Given the description of an element on the screen output the (x, y) to click on. 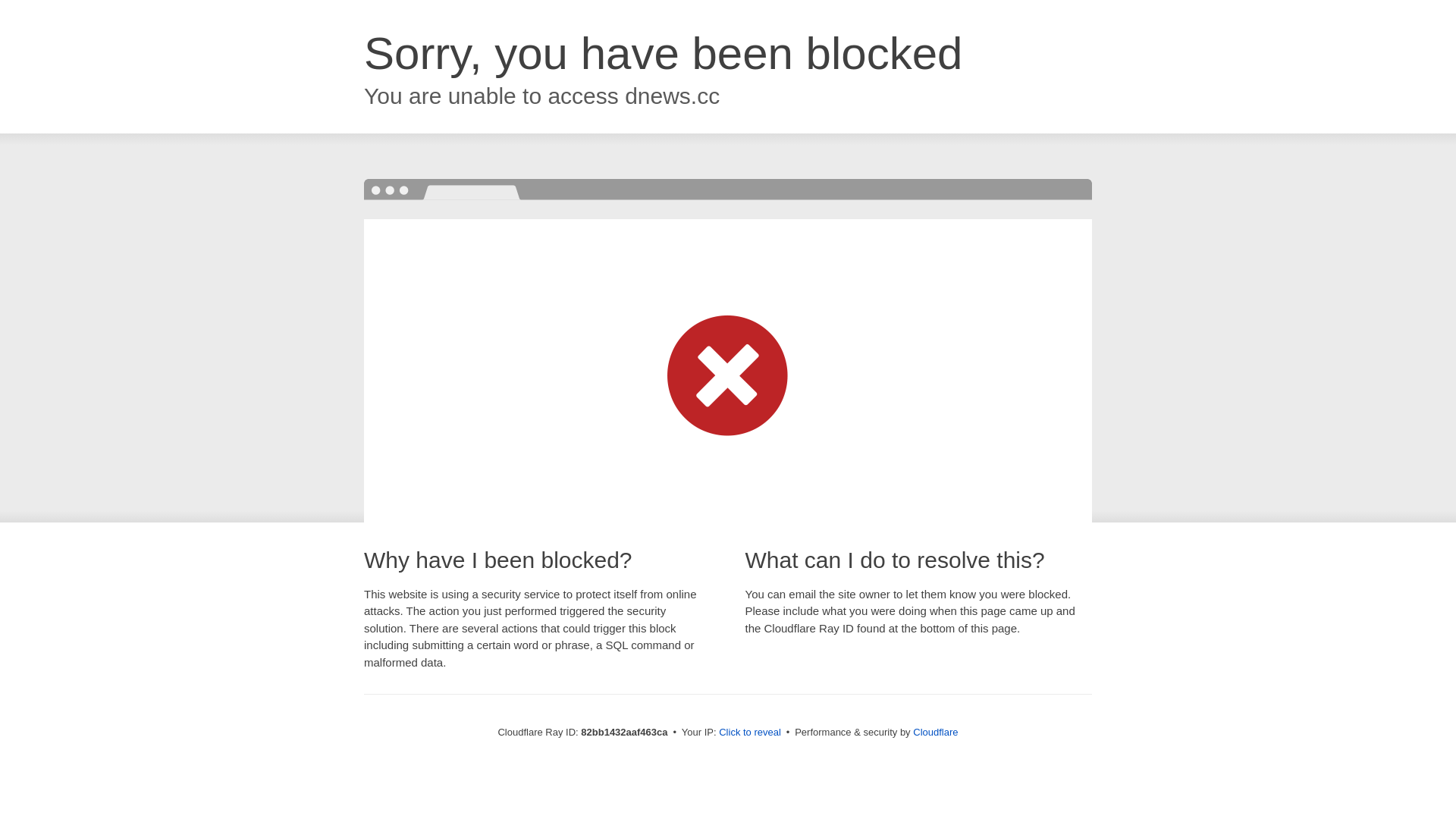
Click to reveal Element type: text (749, 732)
Cloudflare Element type: text (935, 731)
